Given the description of an element on the screen output the (x, y) to click on. 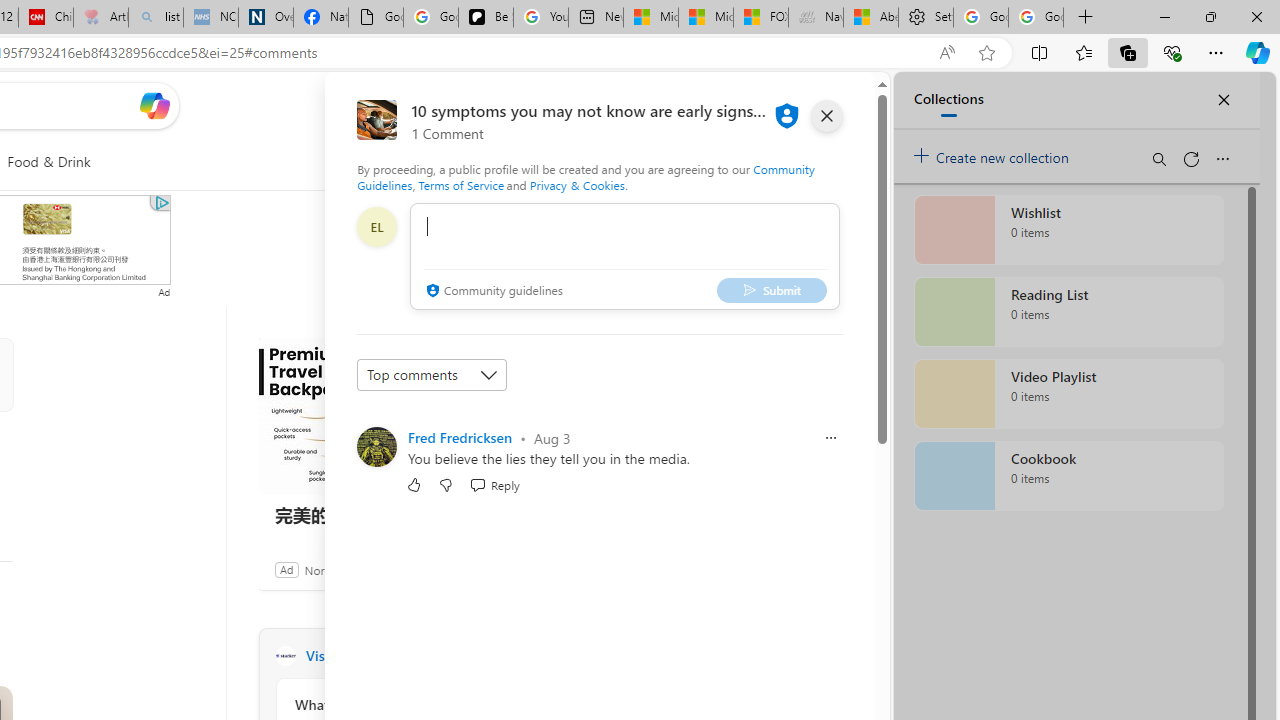
Nordace (326, 569)
Privacy & Cookies (577, 184)
Community guidelines (492, 291)
Google Analytics Opt-out Browser Add-on Download Page (376, 17)
Notifications (790, 105)
Stacker (285, 655)
NCL Adult Asthma Inhaler Choice Guideline - Sleeping (211, 17)
Class: qc-adchoices-icon (161, 202)
Community Guidelines (586, 176)
Like (414, 484)
Personalize (511, 162)
